Given the description of an element on the screen output the (x, y) to click on. 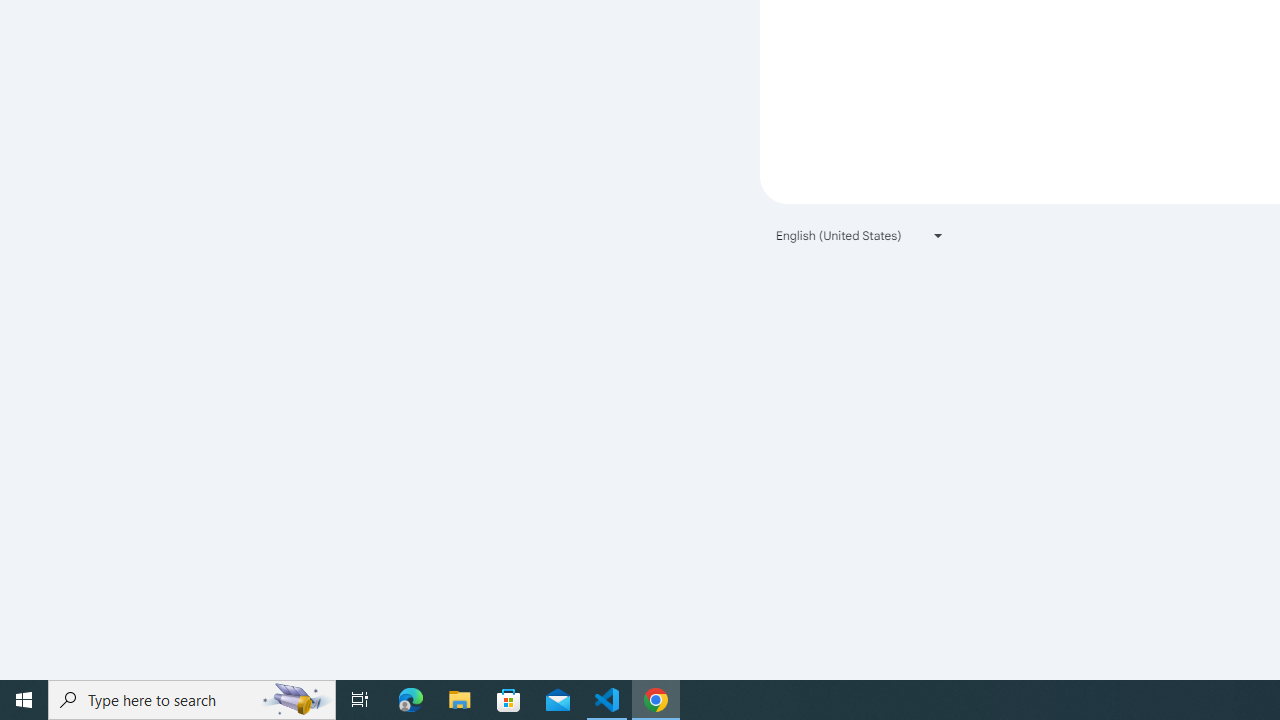
English (United States) (860, 234)
